Given the description of an element on the screen output the (x, y) to click on. 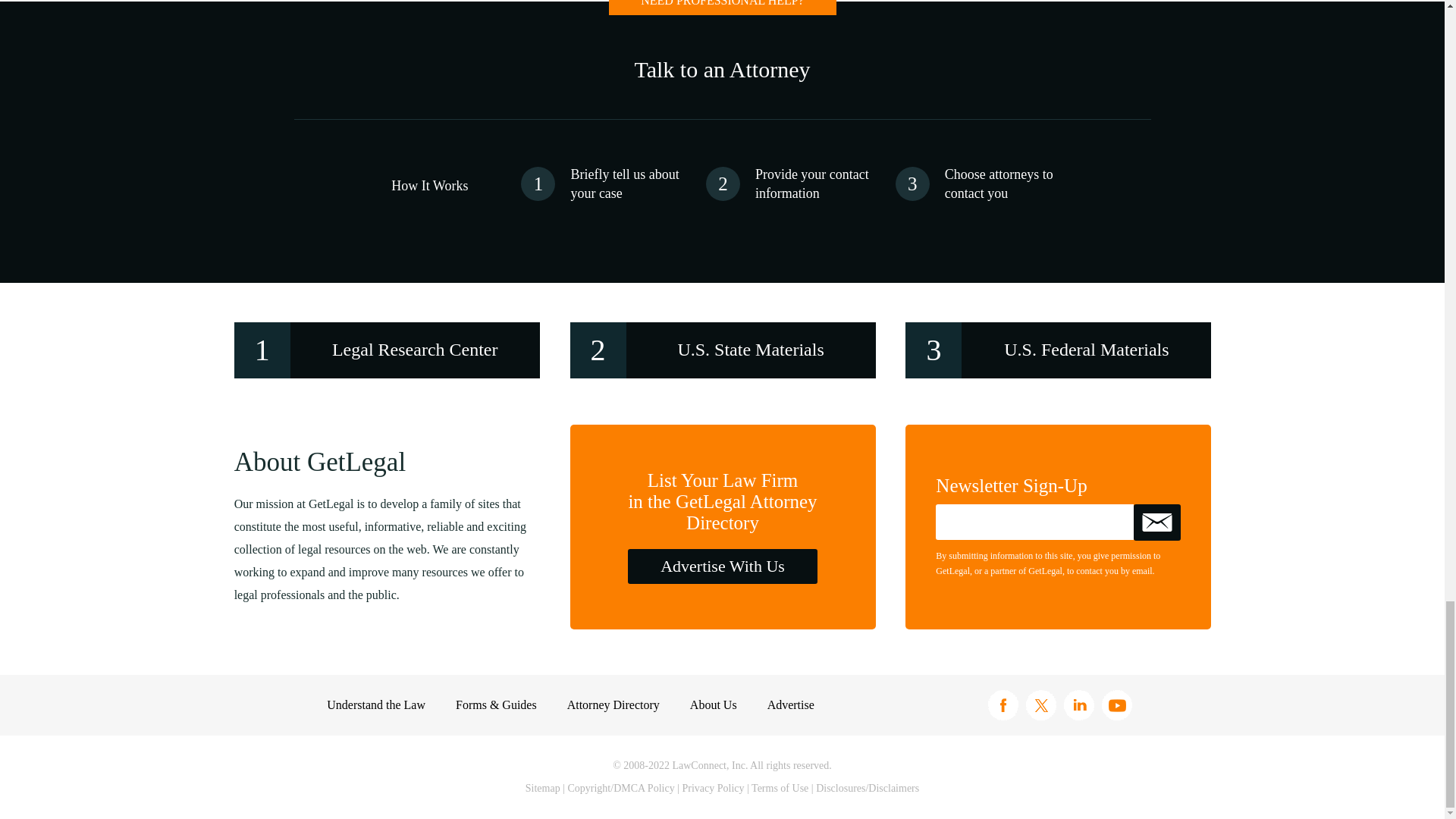
Subscribe! (1157, 522)
